Given the description of an element on the screen output the (x, y) to click on. 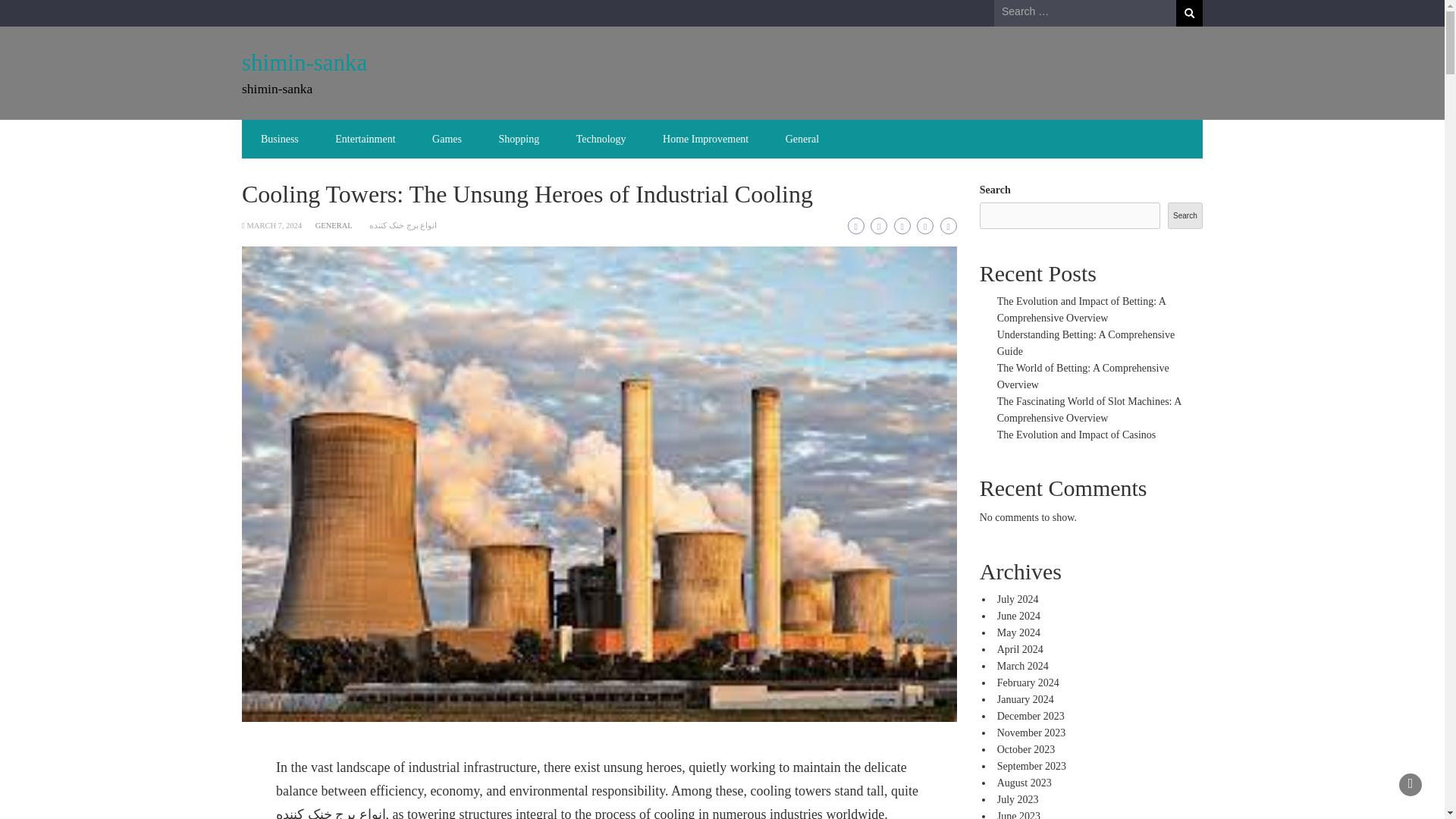
GENERAL (333, 225)
The Evolution and Impact of Casinos (1076, 434)
The World of Betting: A Comprehensive Overview (1083, 376)
Home Improvement (704, 138)
Shopping (518, 138)
General (802, 138)
Business (280, 138)
Search for: (1085, 11)
May 2024 (1019, 632)
Search (1189, 13)
Search (1184, 215)
Understanding Betting: A Comprehensive Guide (1085, 343)
Technology (601, 138)
